Given the description of an element on the screen output the (x, y) to click on. 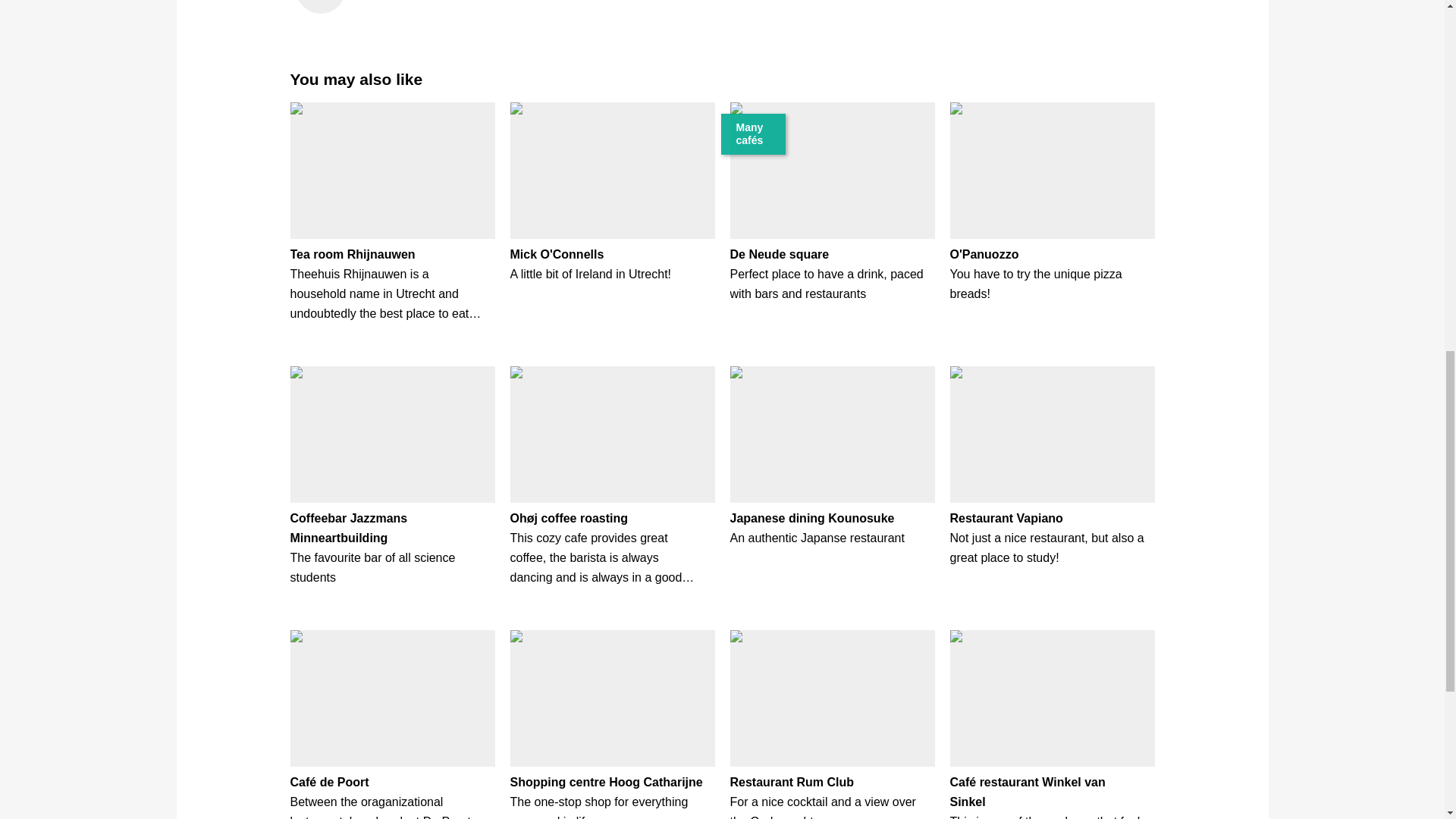
Tea room Rhijnauwen (351, 254)
Restaurant Vapiano (1005, 517)
Shopping centre Hoog Catharijne (605, 781)
Coffeebar Jazzmans Minneartbuilding (348, 527)
Restaurant Rum Club (791, 781)
Mick O'Connells (556, 254)
Japanese dining Kounosuke (811, 517)
De Neude square (778, 254)
O'Panuozzo (983, 254)
